Given the description of an element on the screen output the (x, y) to click on. 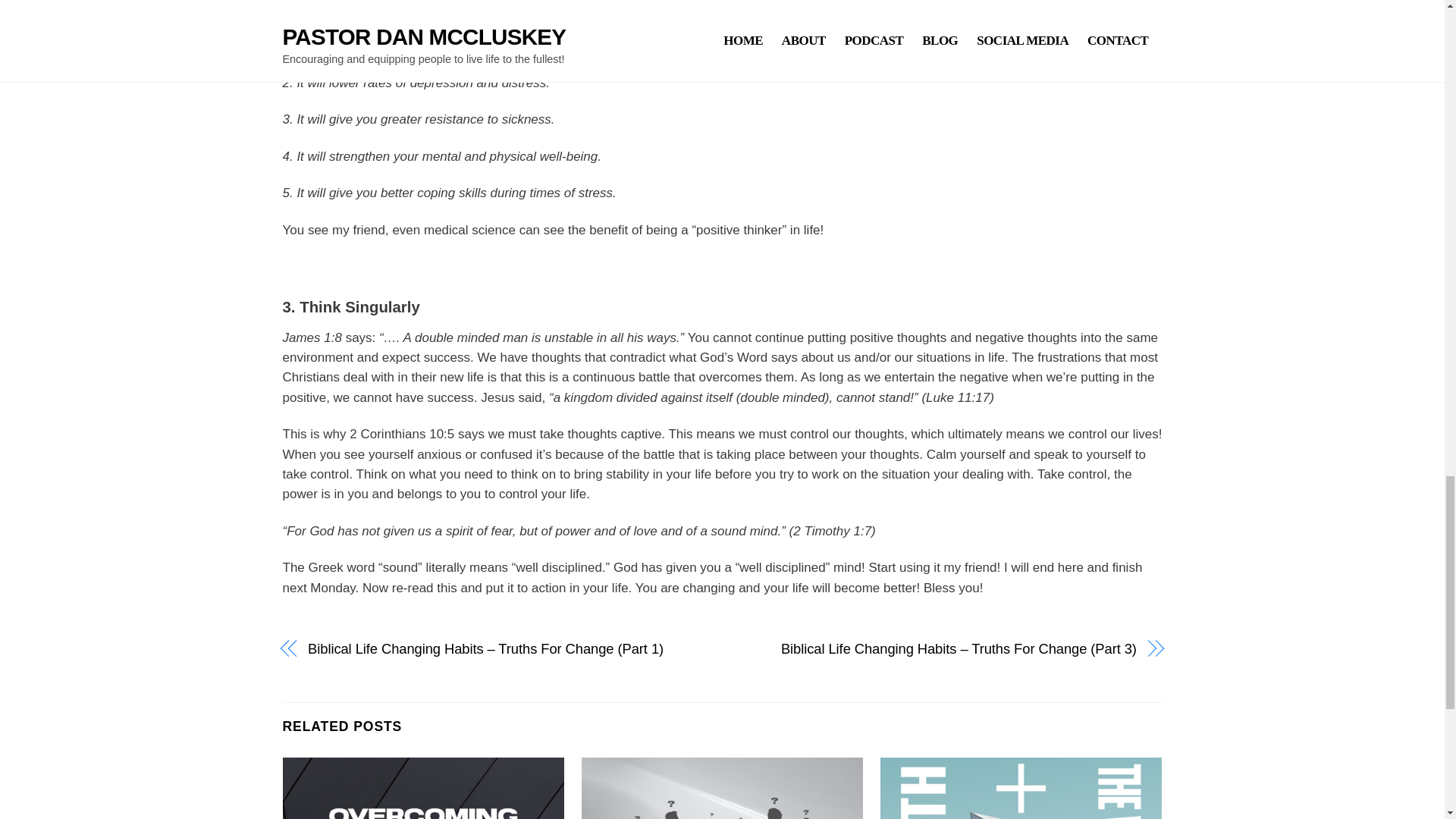
Unlocking Truth - Who's In Your Friendzone (721, 788)
Unlocking Truth - Faith Plus The Word (1020, 788)
Unlocking Truth - Overcoming Exhaustion (422, 788)
